Given the description of an element on the screen output the (x, y) to click on. 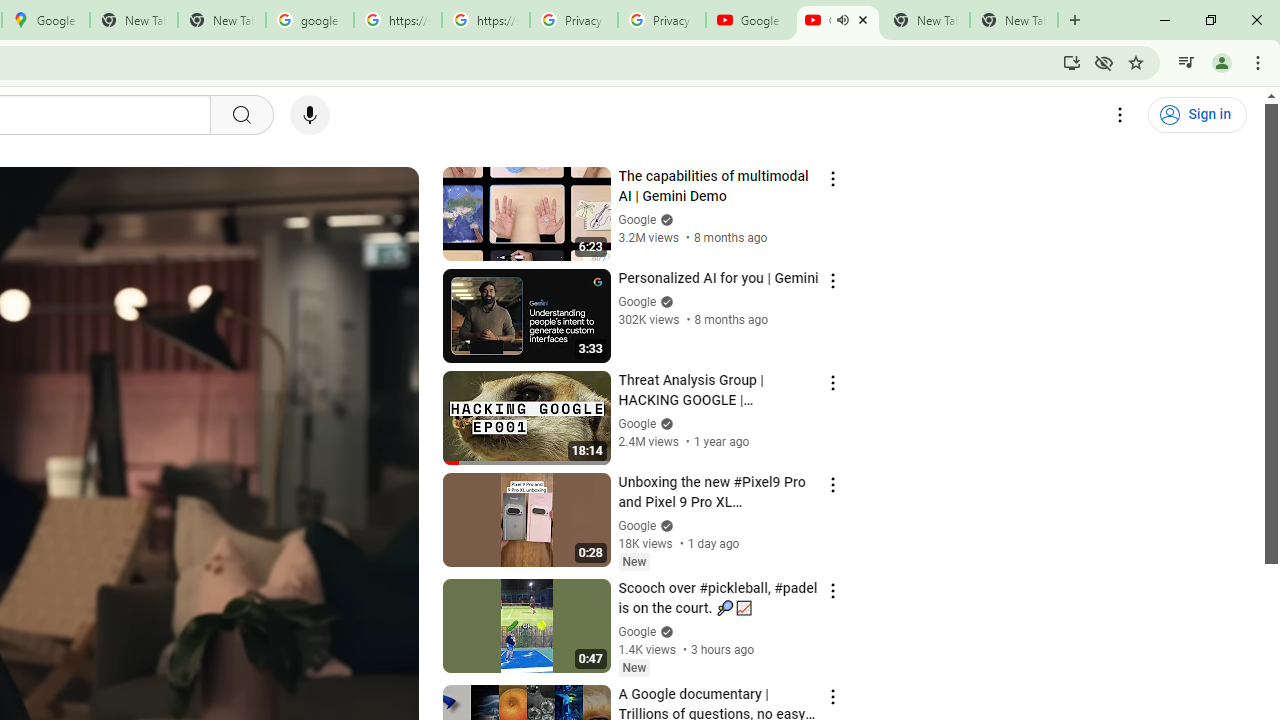
Verified (664, 631)
Search with your voice (309, 115)
